Given the description of an element on the screen output the (x, y) to click on. 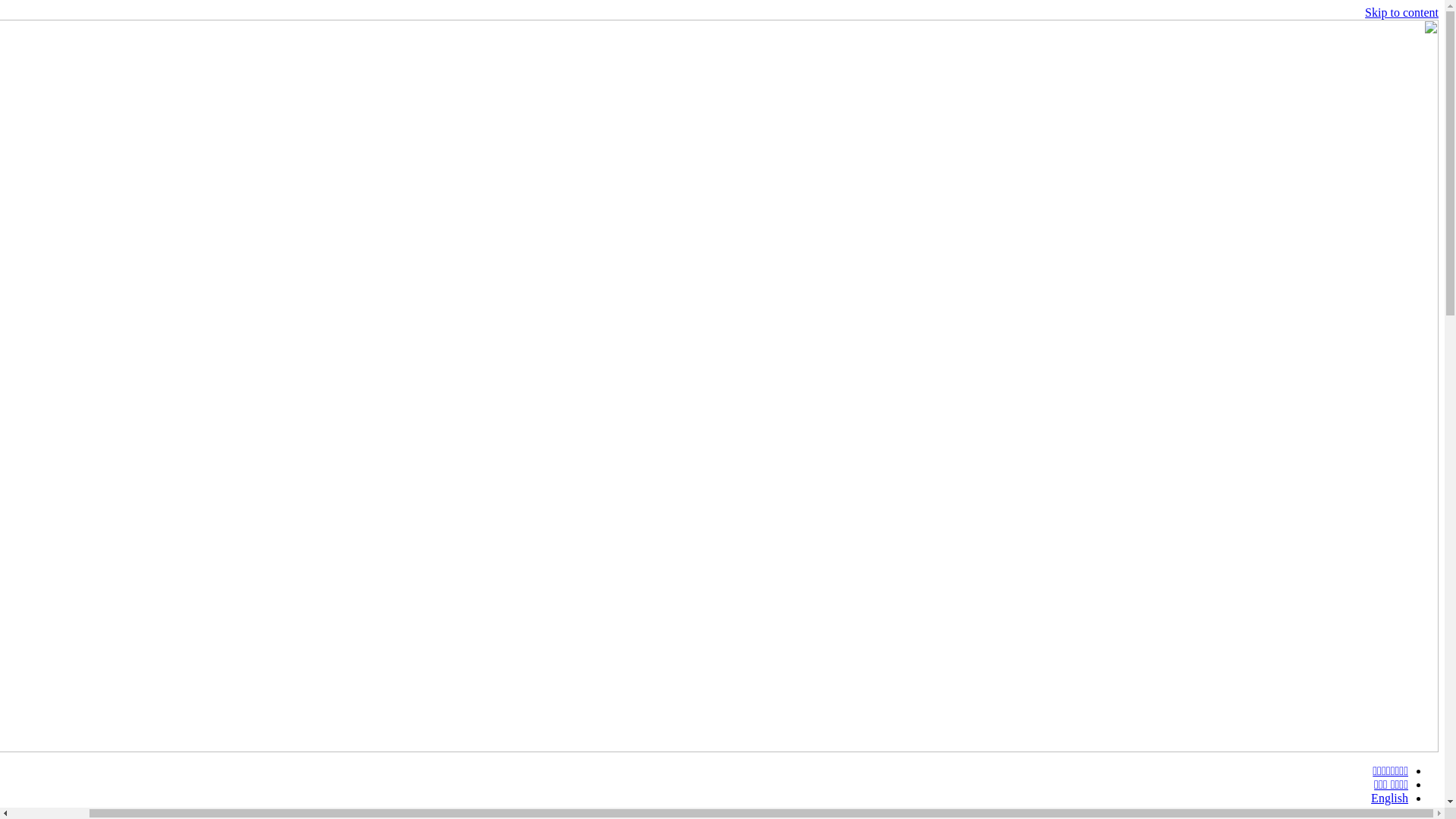
Skip to content Element type: text (1401, 12)
English Element type: text (1389, 797)
